Given the description of an element on the screen output the (x, y) to click on. 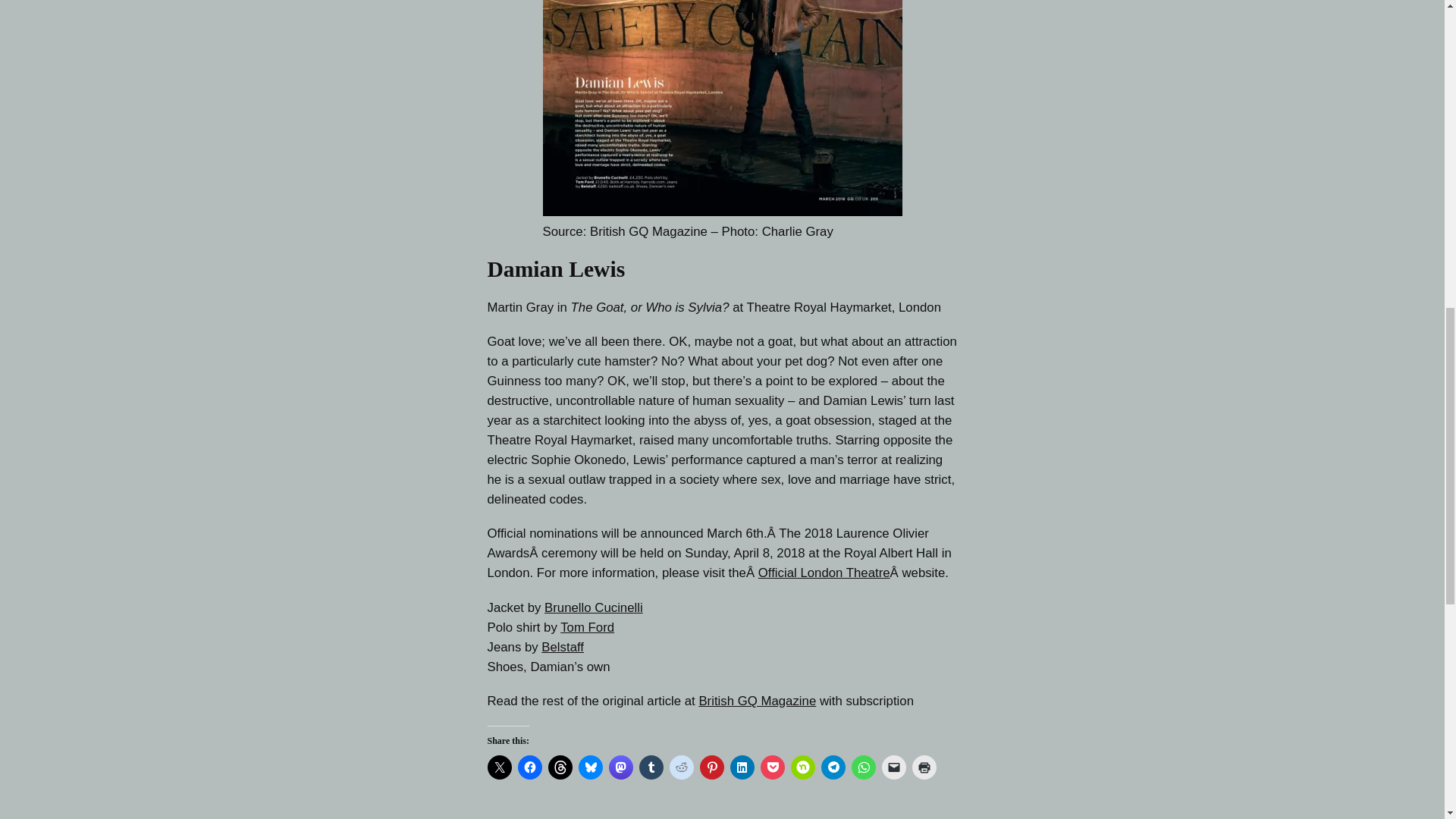
Click to share on Tumblr (650, 767)
Click to print (923, 767)
Click to share on Reddit (680, 767)
Click to share on Pinterest (710, 767)
Click to share on Pocket (772, 767)
Click to share on WhatsApp (862, 767)
Click to share on Threads (559, 767)
Click to share on Telegram (832, 767)
Click to share on Mastodon (619, 767)
Click to email a link to a friend (892, 767)
Click to share on X (498, 767)
Click to share on LinkedIn (741, 767)
Click to share on Facebook (528, 767)
Click to share on Bluesky (590, 767)
Click to share on Nextdoor (801, 767)
